Given the description of an element on the screen output the (x, y) to click on. 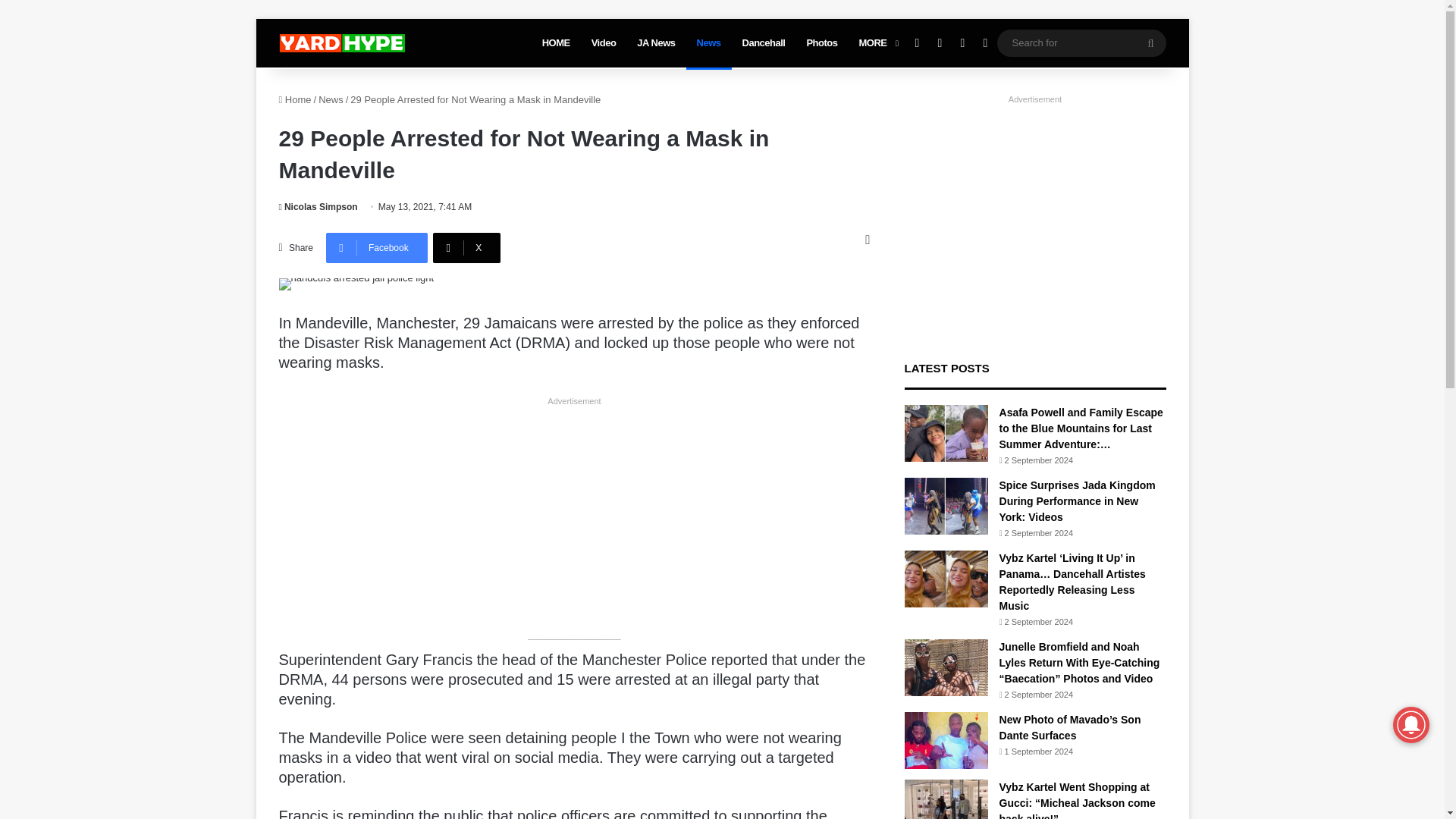
JA News (655, 42)
X (466, 247)
Photos (820, 42)
Facebook (377, 247)
Advertisement (595, 519)
Video (603, 42)
HOME (555, 42)
Dancehall (764, 42)
News (708, 42)
Facebook (377, 247)
